Given the description of an element on the screen output the (x, y) to click on. 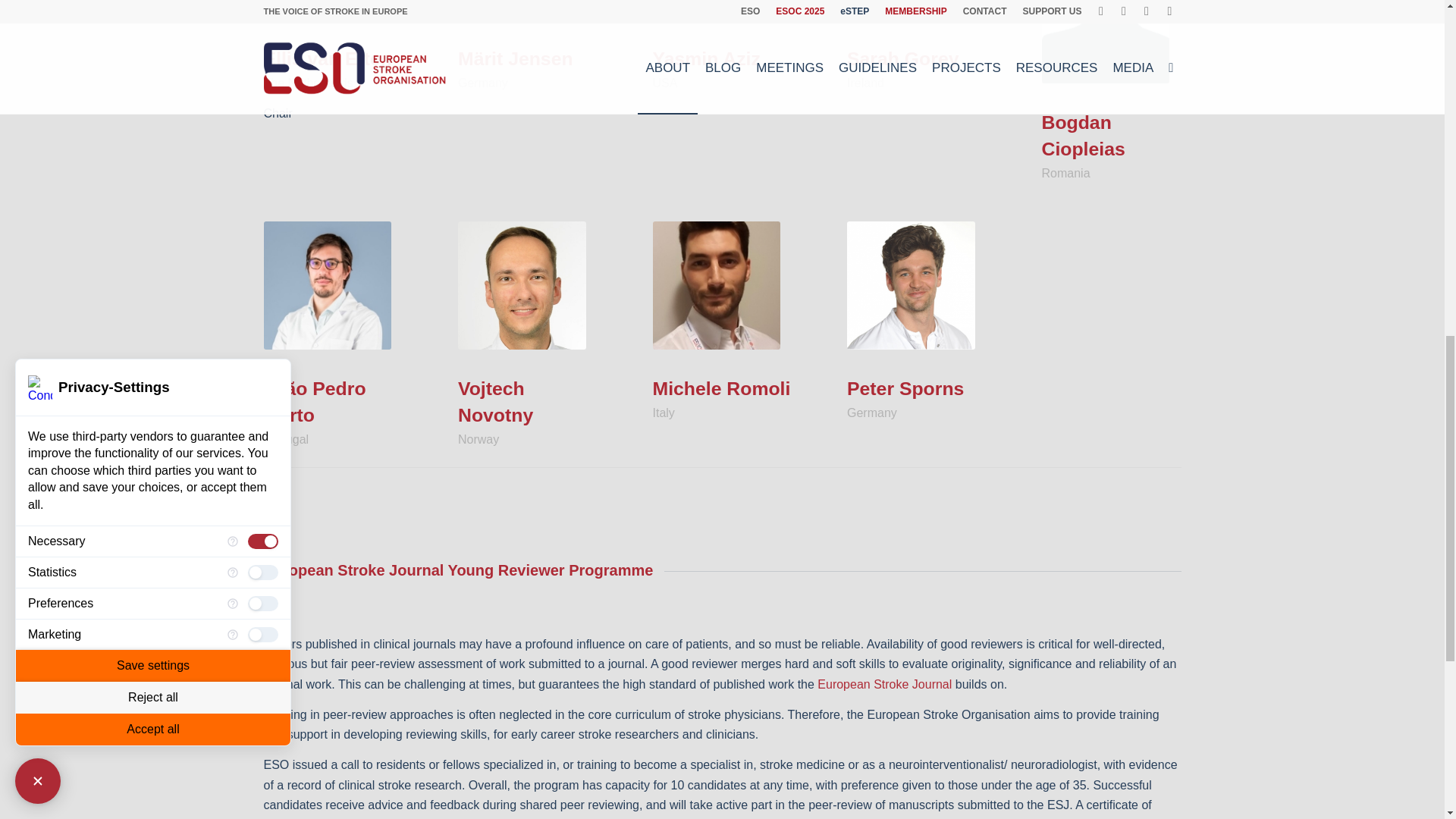
picture (522, 285)
Jensen image (522, 9)
Michele Romoli (716, 285)
Ellis (327, 9)
male (1106, 41)
